Given the description of an element on the screen output the (x, y) to click on. 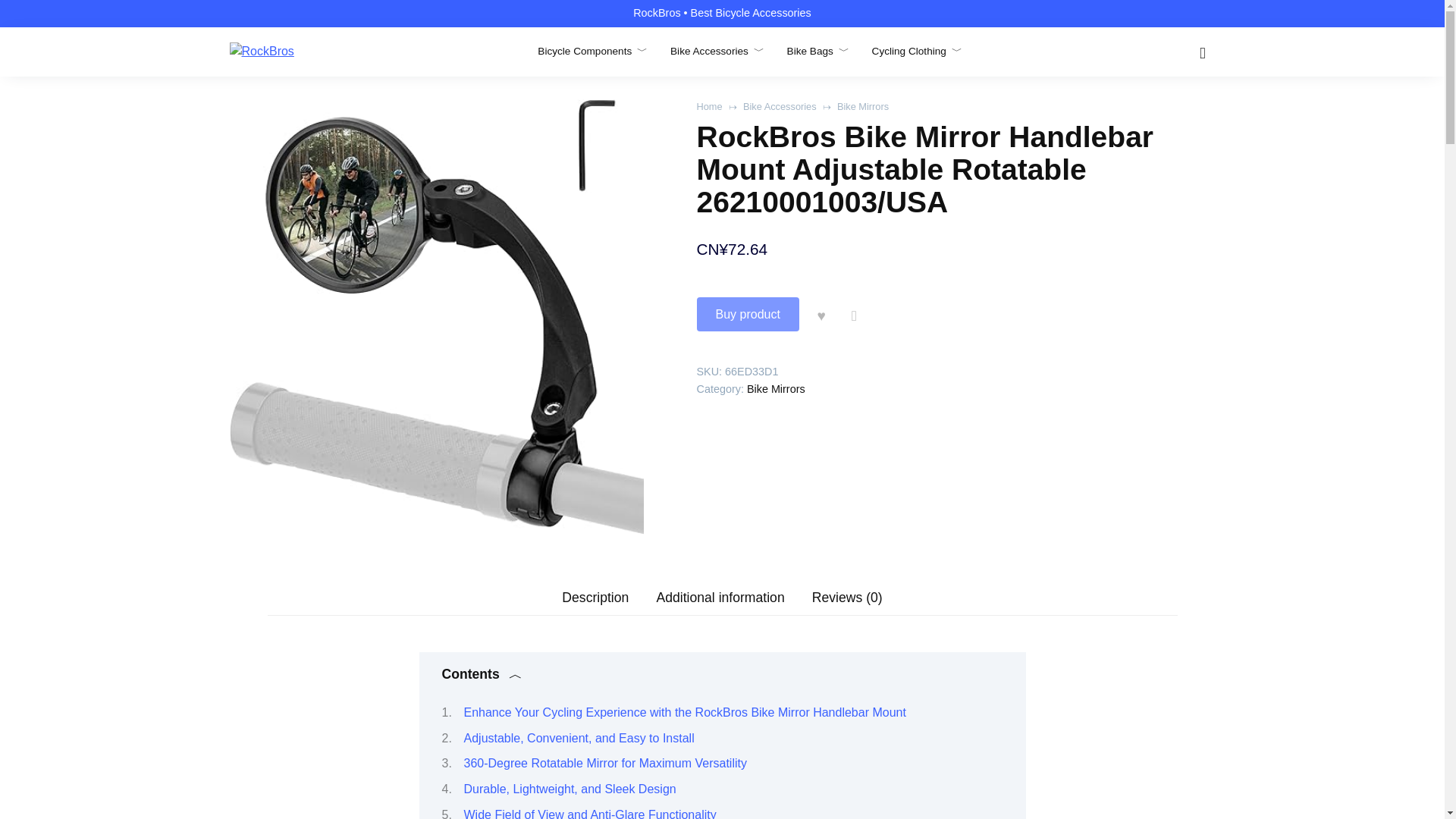
Home (708, 106)
Bike Accessories (779, 106)
Bike Mirrors (775, 388)
Bicycle Components (592, 50)
Add to Compare (853, 313)
Adjustable, Convenient, and Easy to Install (579, 738)
Bike Accessories (716, 50)
Cycling Clothing (917, 50)
Description (595, 597)
Buy product (746, 314)
Bike Mirrors (862, 106)
Additional information (720, 597)
Bike Bags (817, 50)
Add to Favorite (820, 313)
